Given the description of an element on the screen output the (x, y) to click on. 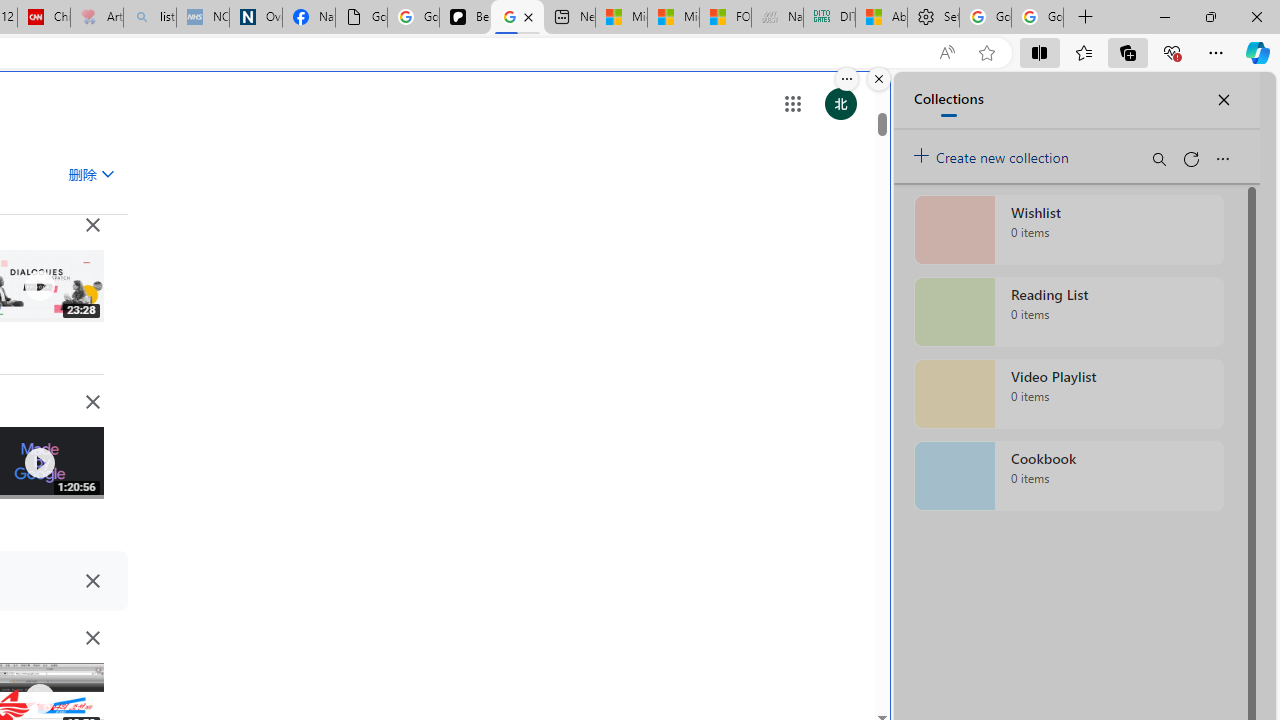
FOX News - MSN (725, 17)
Class: gb_E (792, 103)
Aberdeen, Hong Kong SAR hourly forecast | Microsoft Weather (881, 17)
Navy Quest (776, 17)
Be Smart | creating Science videos | Patreon (465, 17)
